Given the description of an element on the screen output the (x, y) to click on. 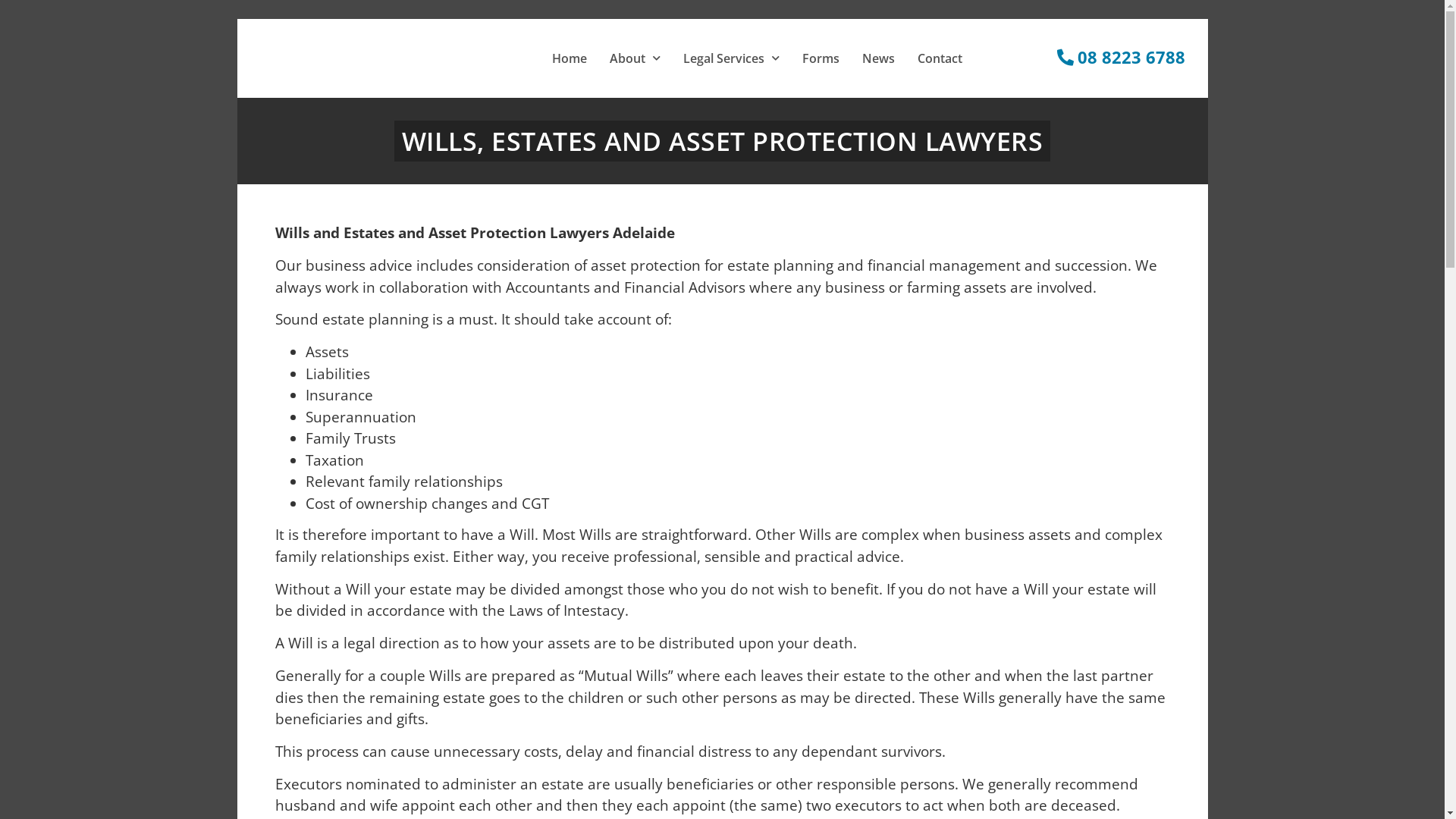
08 8223 6788 Element type: text (1121, 56)
Forms Element type: text (820, 57)
Legal Services Element type: text (730, 57)
Contact Element type: text (939, 57)
News Element type: text (877, 57)
About Element type: text (634, 57)
Home Element type: text (569, 57)
